Given the description of an element on the screen output the (x, y) to click on. 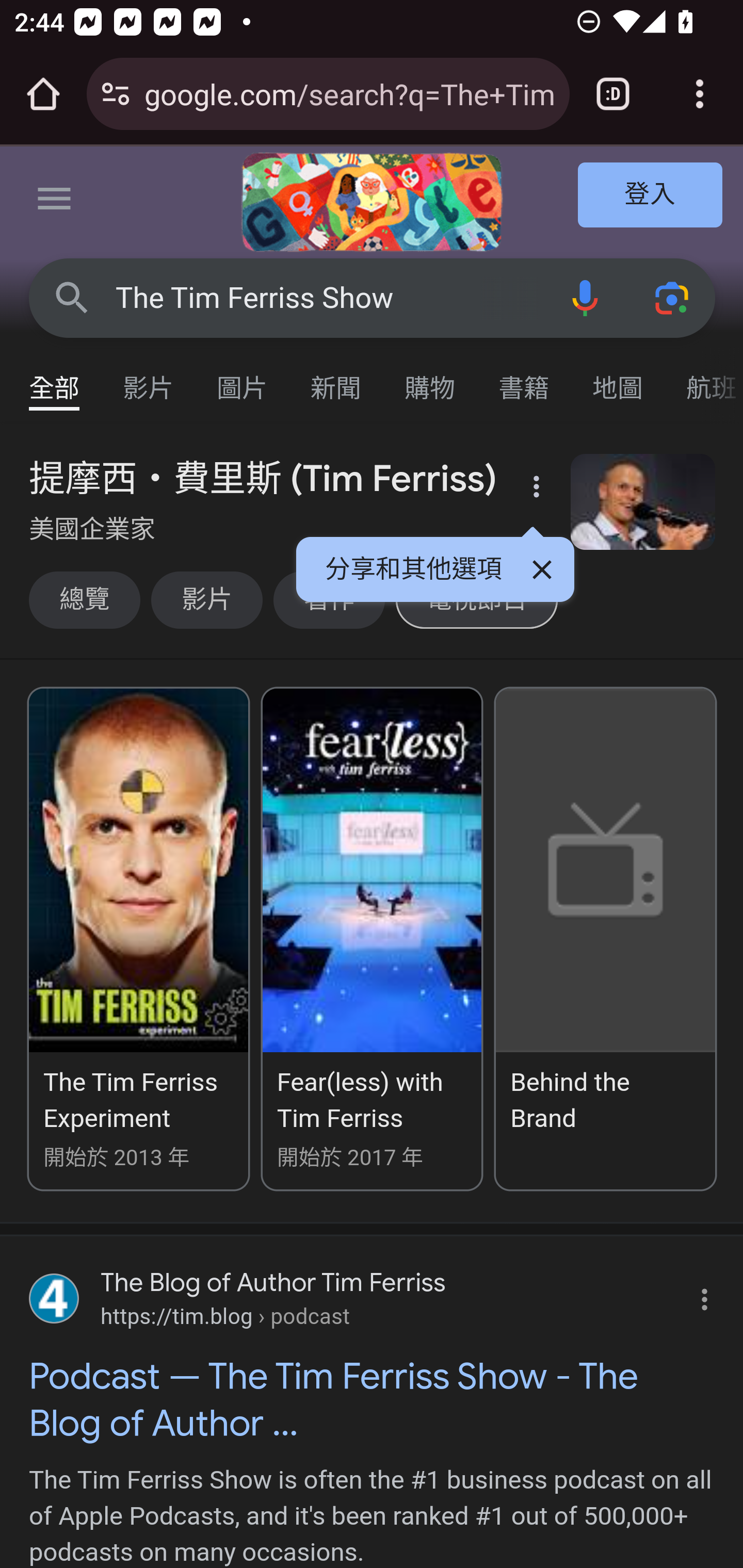
Open the home page (43, 93)
Connection is secure (115, 93)
Switch or close tabs (612, 93)
Customize and control Google Chrome (699, 93)
